Given the description of an element on the screen output the (x, y) to click on. 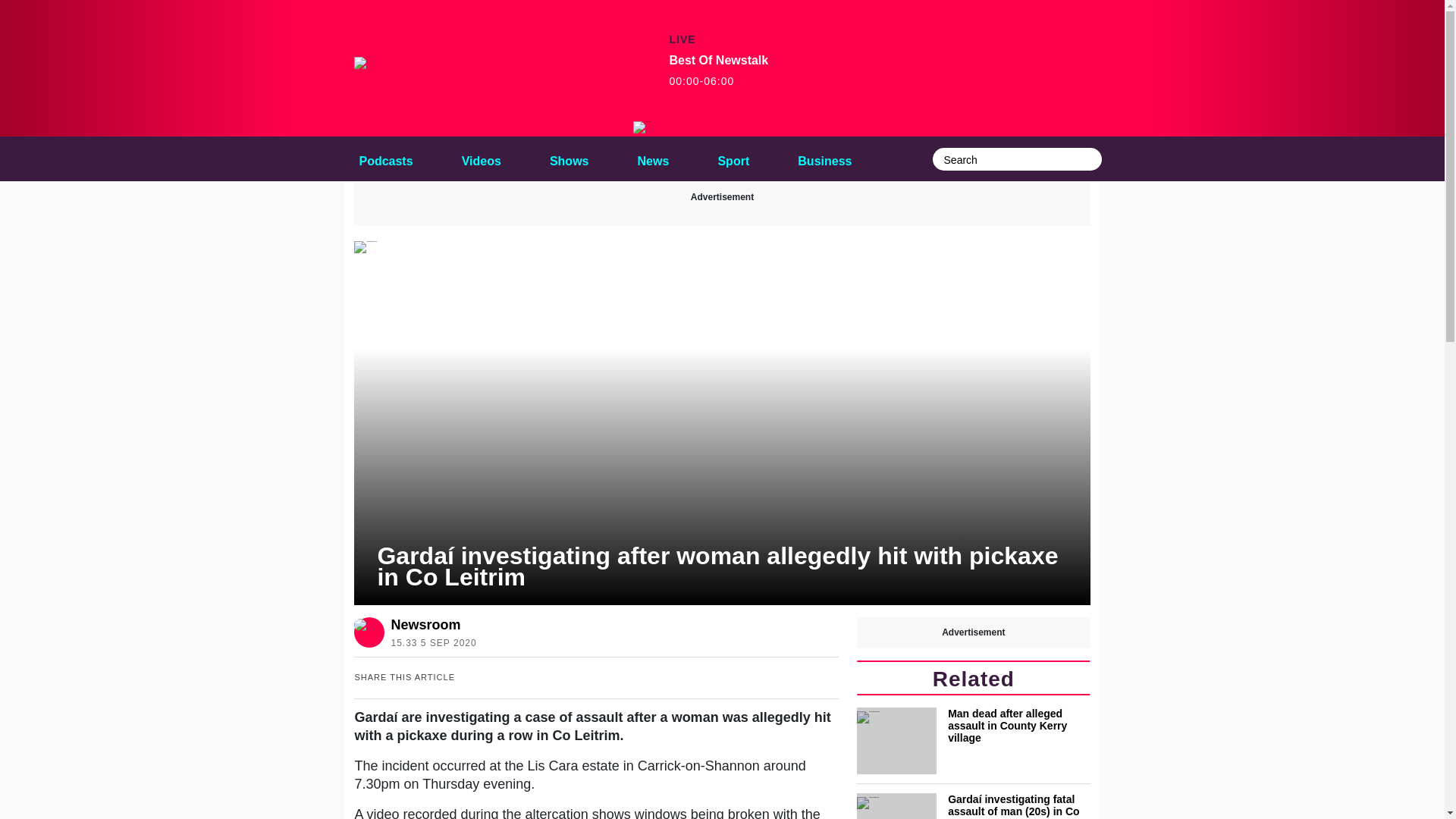
Videos (481, 158)
Business (824, 158)
News (653, 158)
Videos (718, 70)
News (481, 158)
Man dead after alleged assault in County Kerry village (653, 158)
Shows (973, 740)
Podcasts (569, 158)
Business (384, 158)
